Given the description of an element on the screen output the (x, y) to click on. 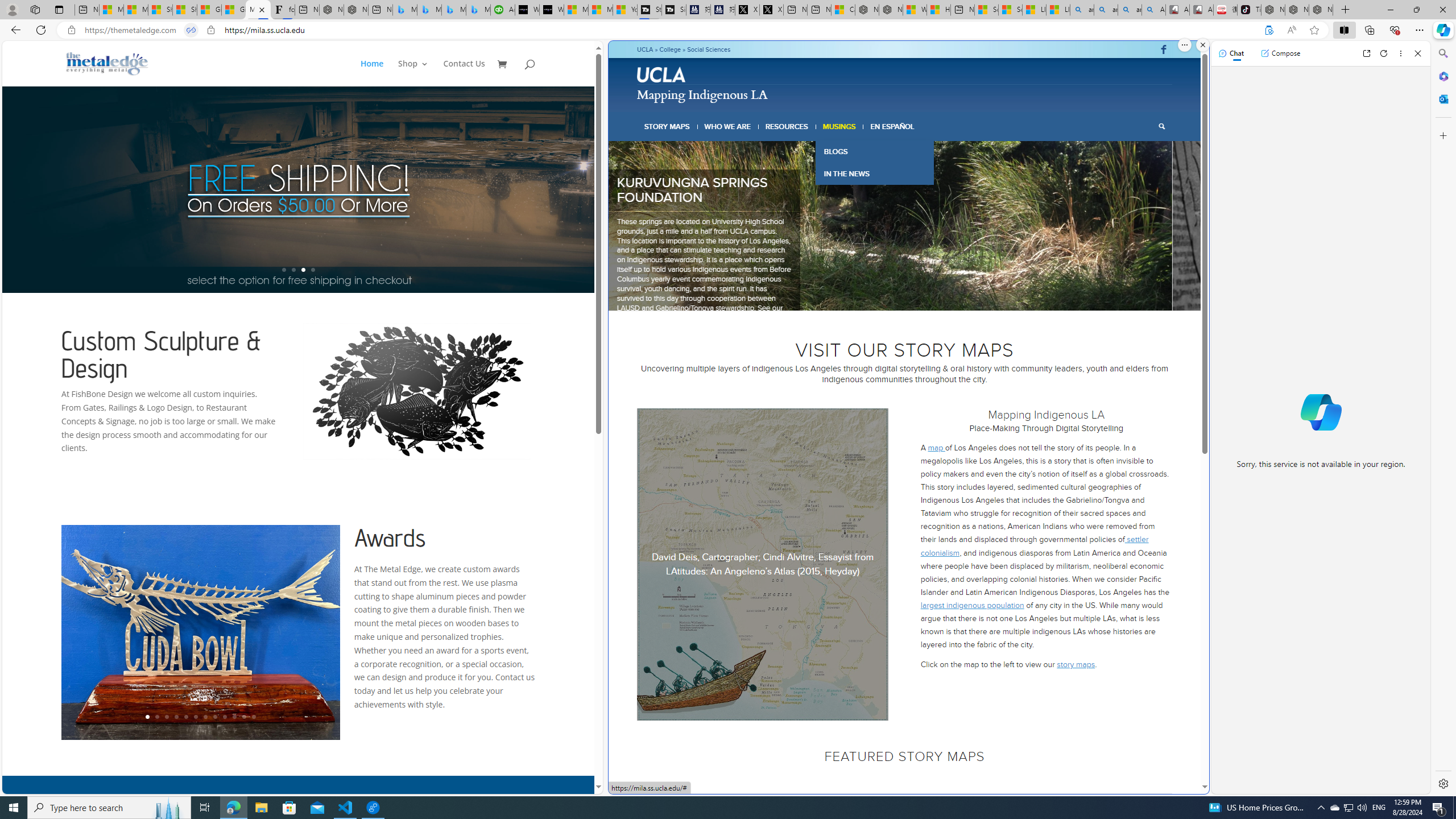
Close split screen. (1202, 45)
Mapping Indigenous LA (702, 93)
